Given the description of an element on the screen output the (x, y) to click on. 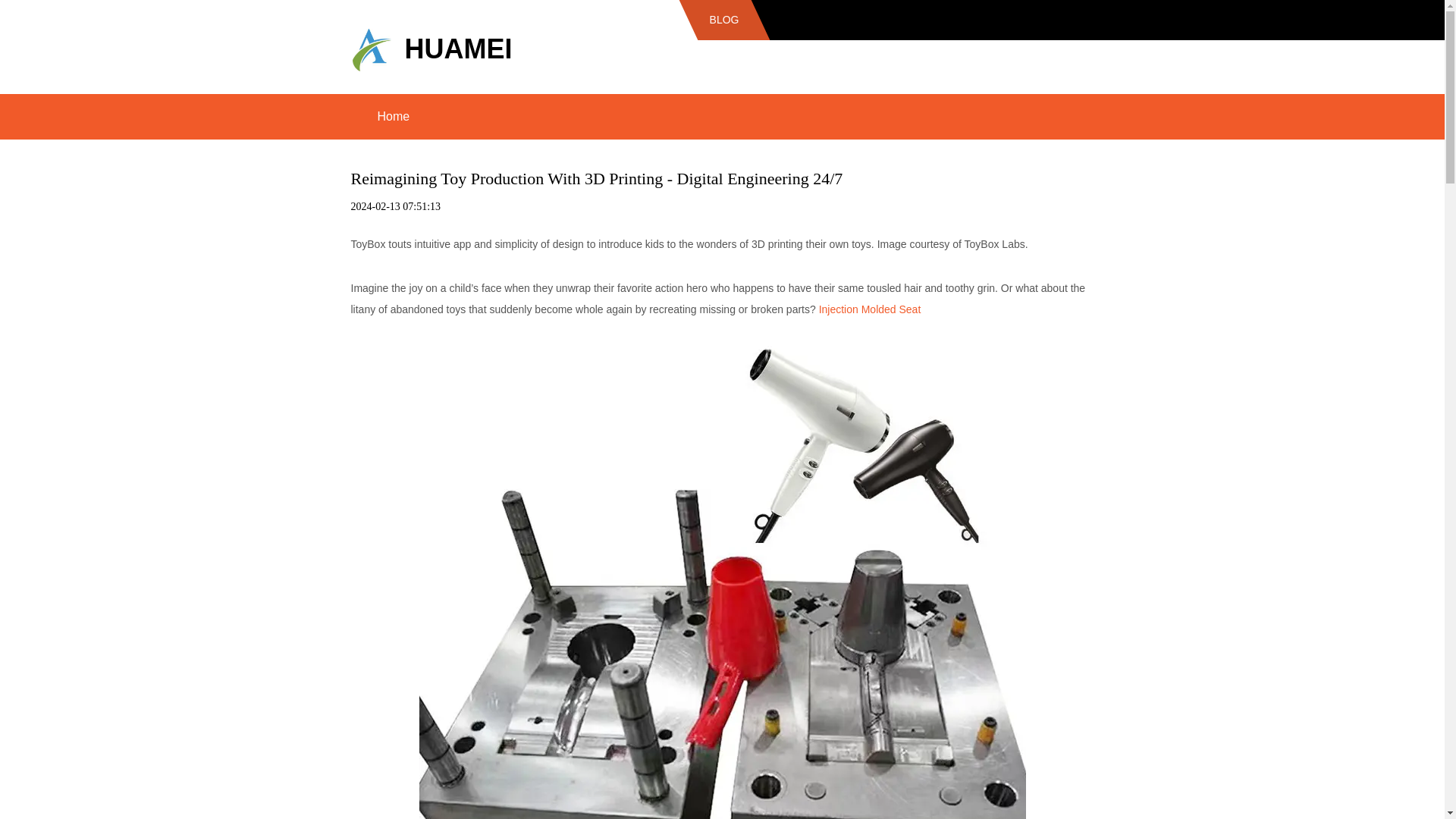
Home (392, 116)
Injection Molded Seat (869, 309)
